Given the description of an element on the screen output the (x, y) to click on. 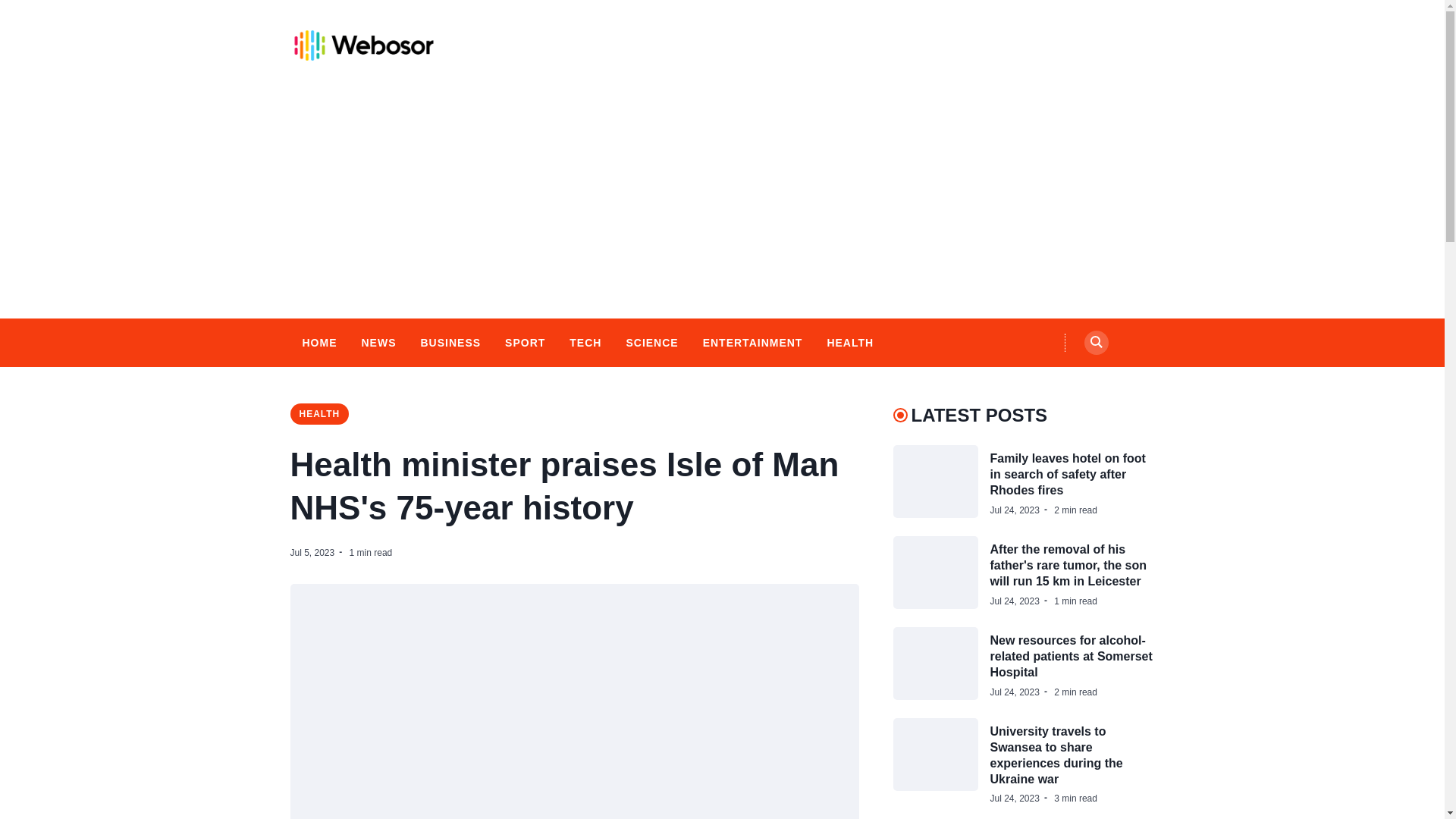
NEWS (378, 342)
SCIENCE (652, 342)
HEALTH (850, 342)
TECH (585, 342)
HEALTH (319, 414)
ENTERTAINMENT (753, 342)
BUSINESS (449, 342)
SPORT (525, 342)
HOME (318, 342)
